Given the description of an element on the screen output the (x, y) to click on. 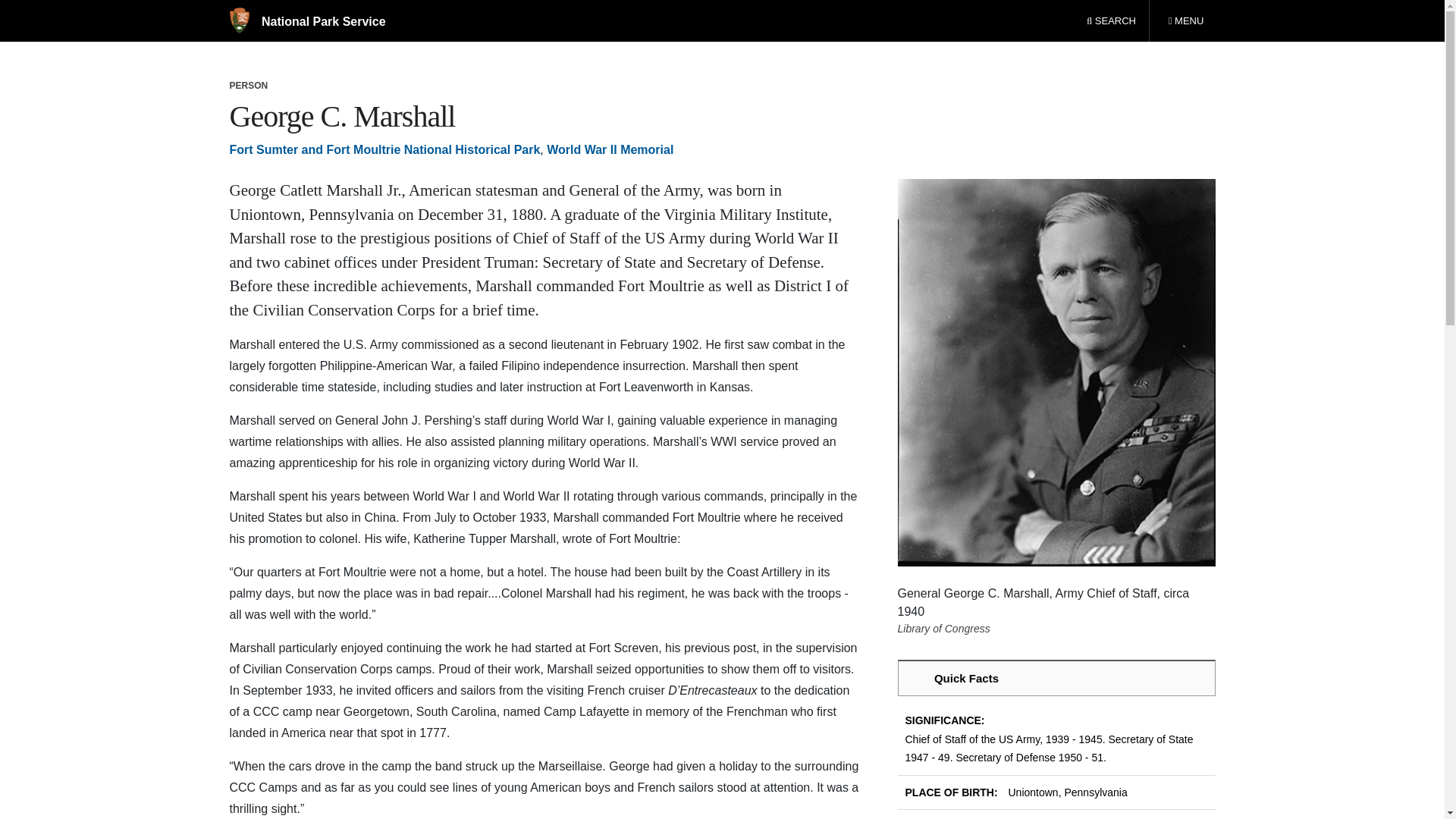
SEARCH (1185, 20)
National Park Service (1111, 20)
Fort Sumter and Fort Moultrie National Historical Park (307, 20)
World War II Memorial (384, 149)
